Given the description of an element on the screen output the (x, y) to click on. 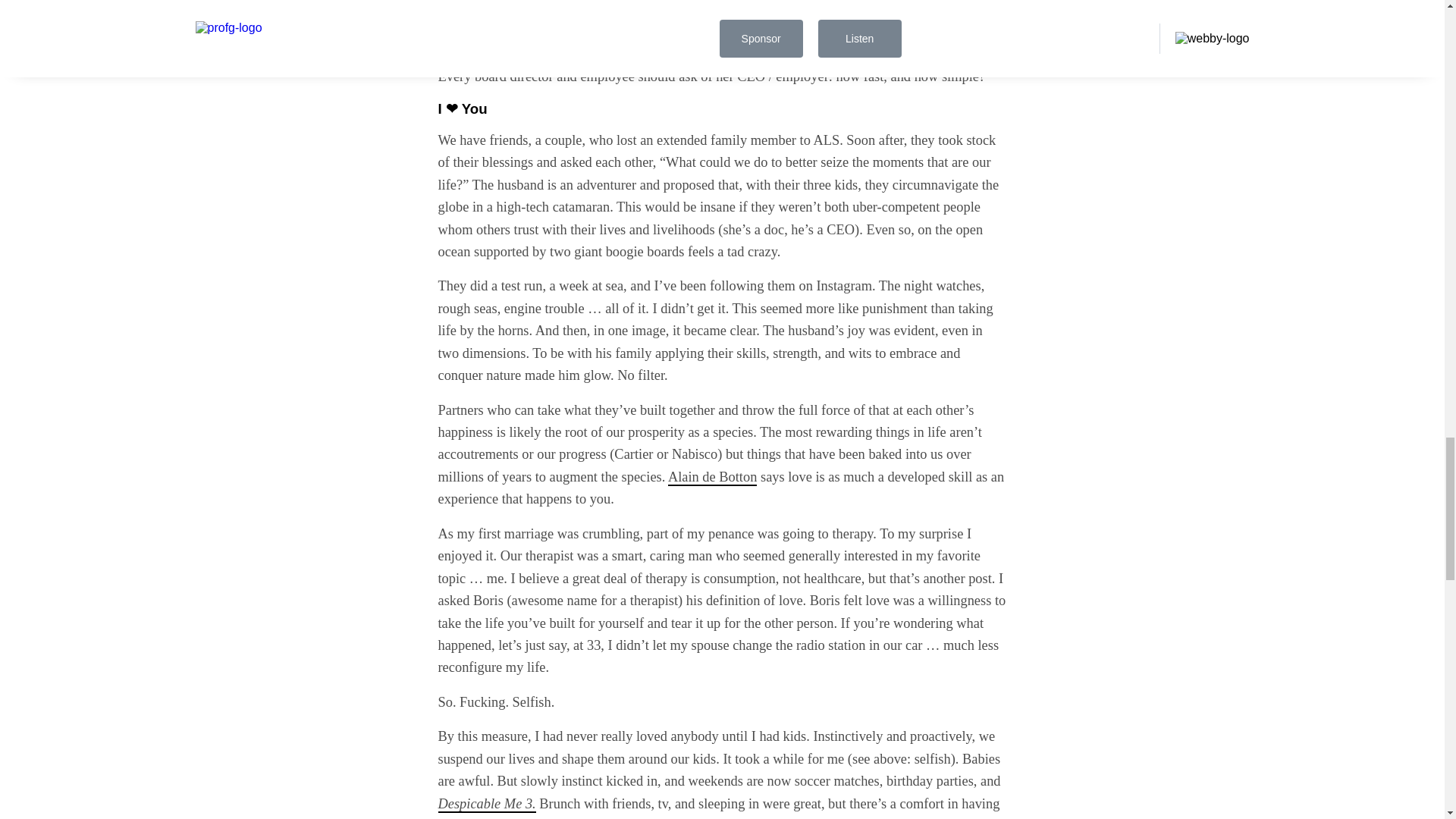
Alain de Botton (712, 477)
Despicable Me 3. (486, 804)
